Given the description of an element on the screen output the (x, y) to click on. 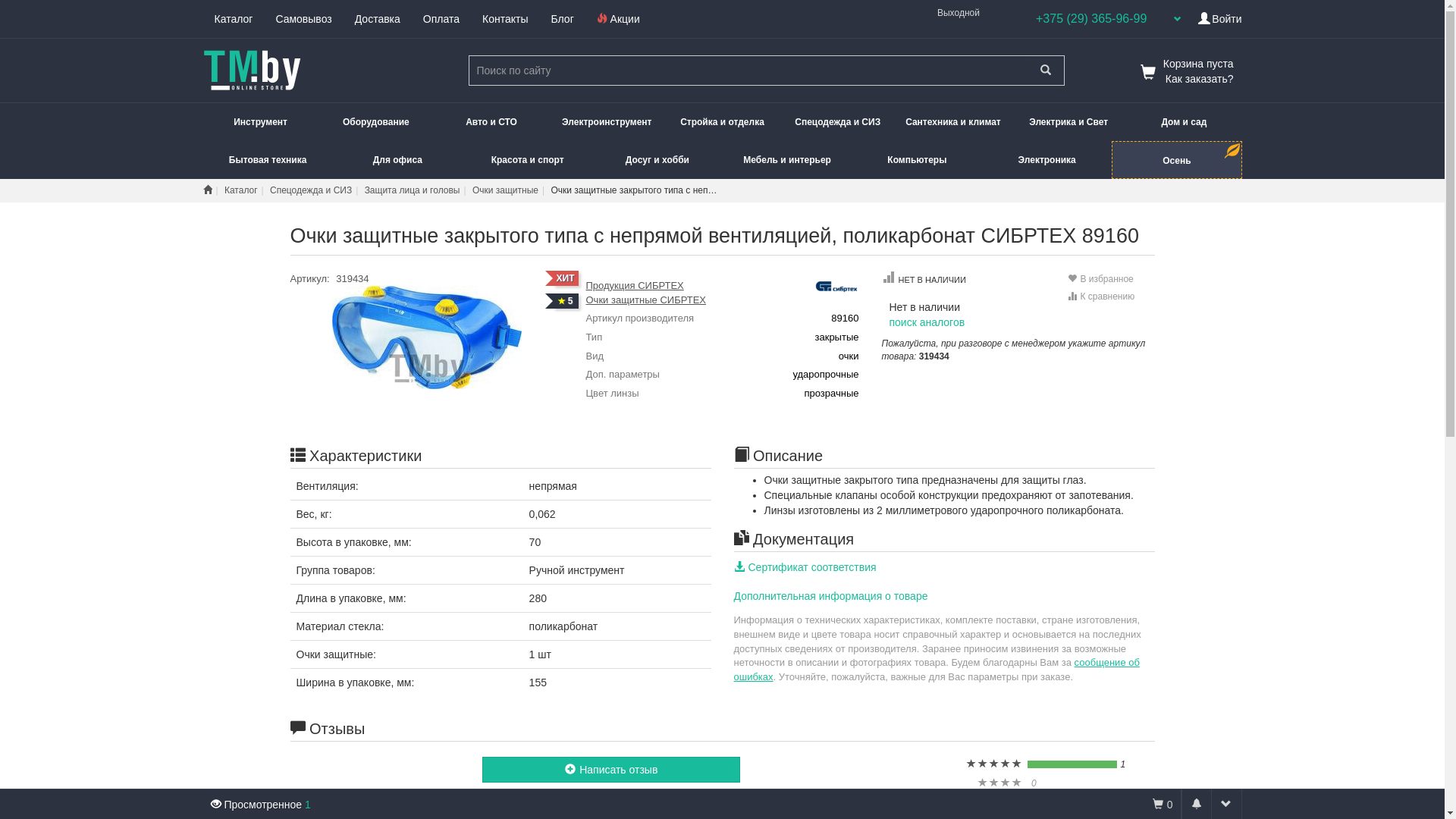
5 Element type: text (565, 300)
<span class="glyphicon glyphicon-search"></span> Element type: text (1044, 70)
